Given the description of an element on the screen output the (x, y) to click on. 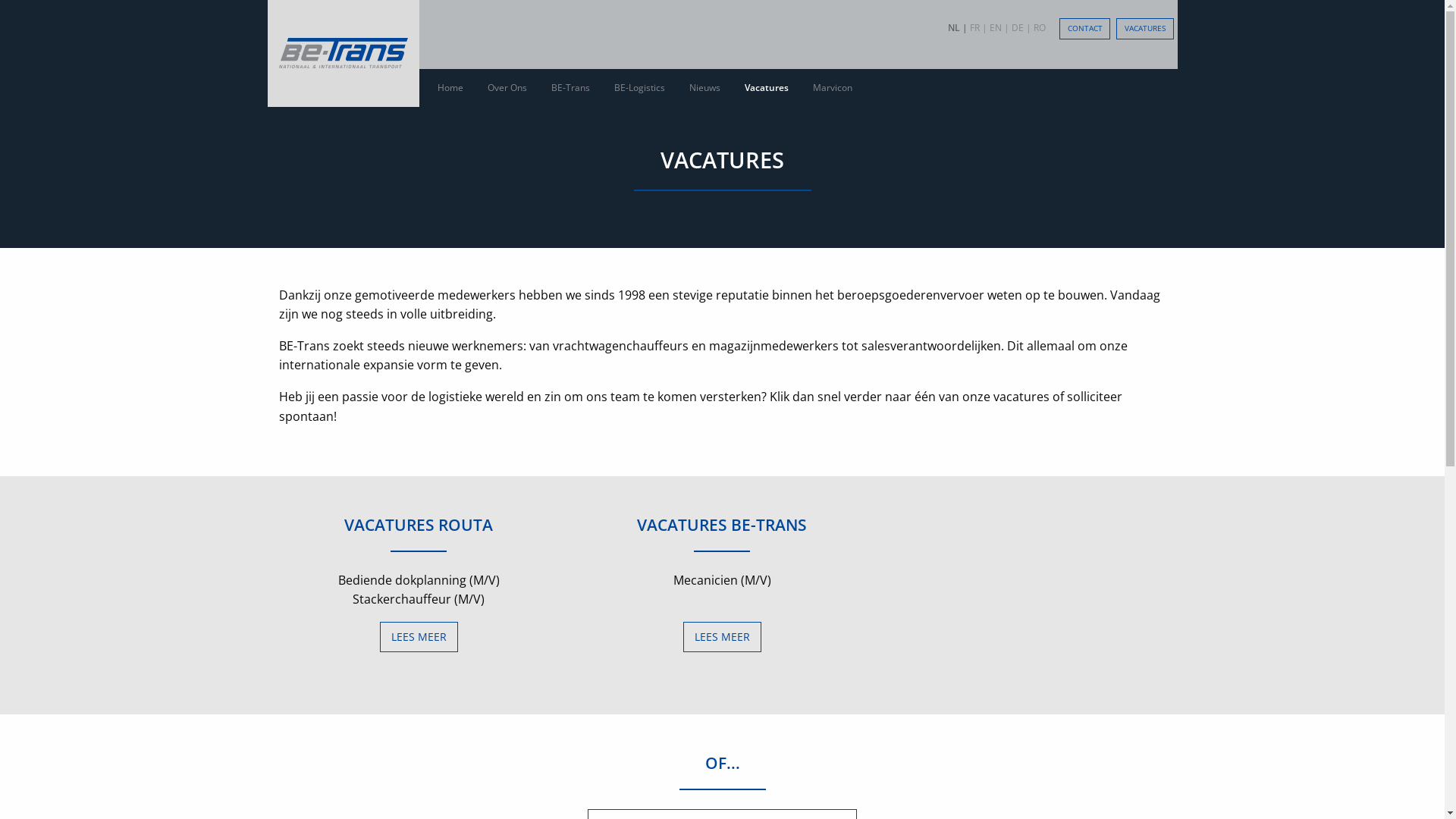
Home Element type: text (450, 87)
LEES MEER Element type: text (418, 636)
CONTACT Element type: text (1084, 28)
BE-Logistics Element type: text (639, 87)
LEES MEER Element type: text (722, 636)
NL | Element type: text (957, 27)
DE | Element type: text (1021, 27)
FR | Element type: text (978, 27)
Nieuws Element type: text (704, 87)
RO Element type: text (1039, 27)
Vacatures Element type: text (766, 87)
Over Ons Element type: text (507, 87)
VACATURES Element type: text (1144, 28)
BE-Trans Element type: text (570, 87)
Marvicon Element type: text (832, 87)
EN | Element type: text (999, 27)
